Given the description of an element on the screen output the (x, y) to click on. 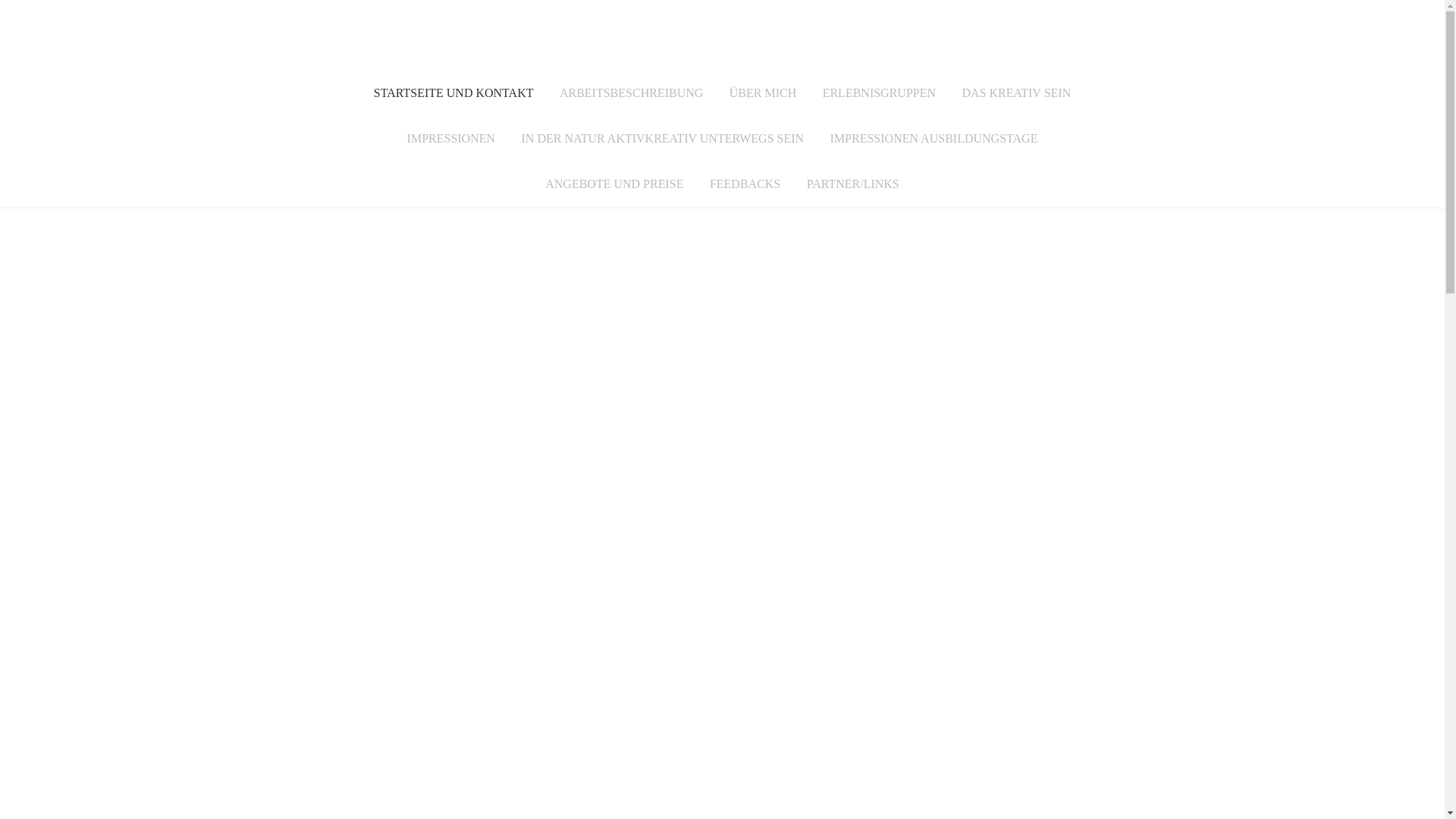
FEEDBACKS Element type: text (744, 184)
IN DER NATUR AKTIVKREATIV UNTERWEGS SEIN Element type: text (662, 138)
ARBEITSBESCHREIBUNG Element type: text (631, 93)
ERLEBNISGRUPPEN Element type: text (879, 93)
IMPRESSIONEN AUSBILDUNGSTAGE Element type: text (934, 138)
STARTSEITE UND KONTAKT Element type: text (453, 93)
ANGEBOTE UND PREISE Element type: text (613, 184)
DAS KREATIV SEIN Element type: text (1016, 93)
IMPRESSIONEN Element type: text (450, 138)
PARTNER/LINKS Element type: text (852, 184)
